Given the description of an element on the screen output the (x, y) to click on. 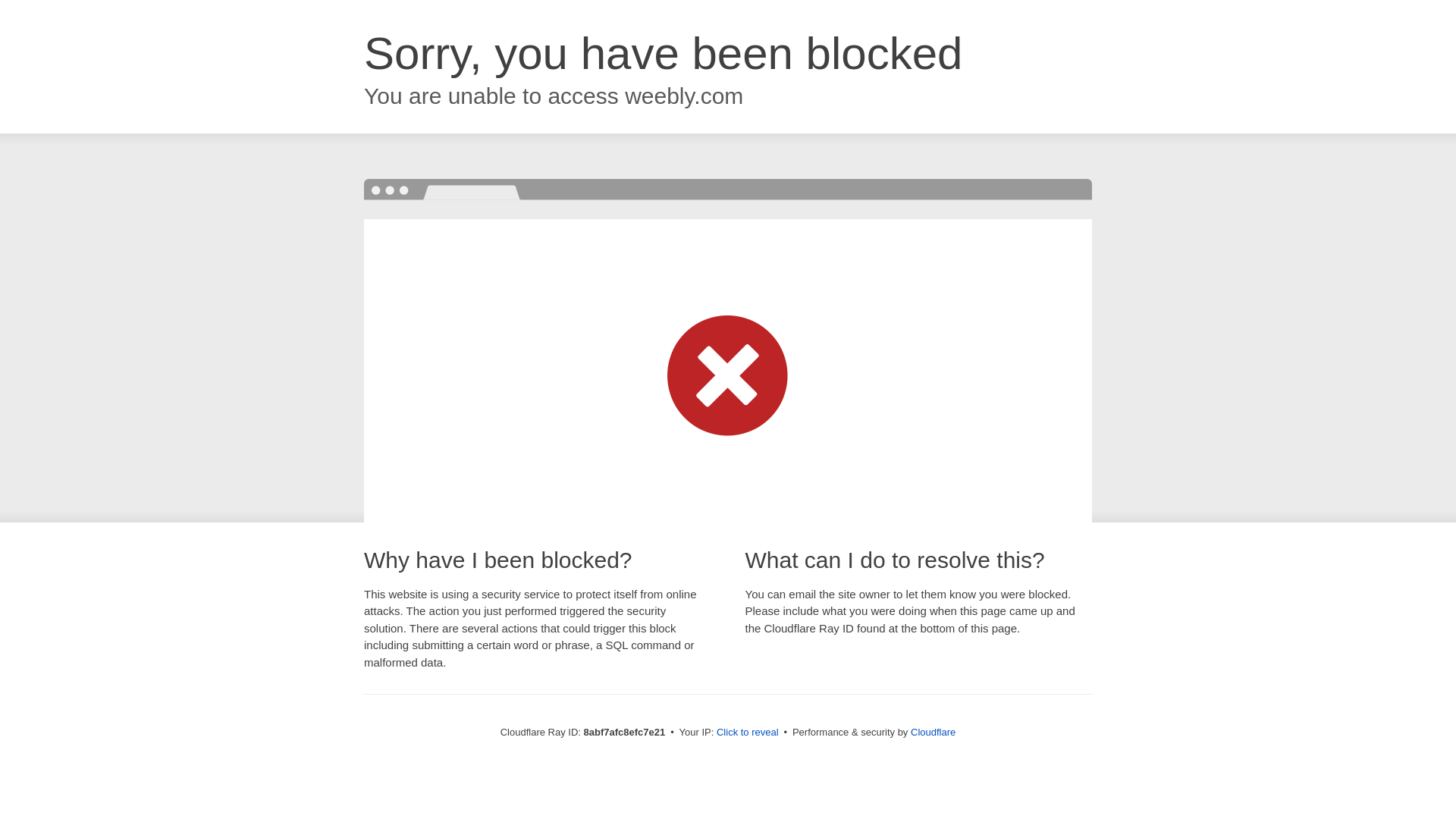
Click to reveal (747, 732)
Cloudflare (933, 731)
